Given the description of an element on the screen output the (x, y) to click on. 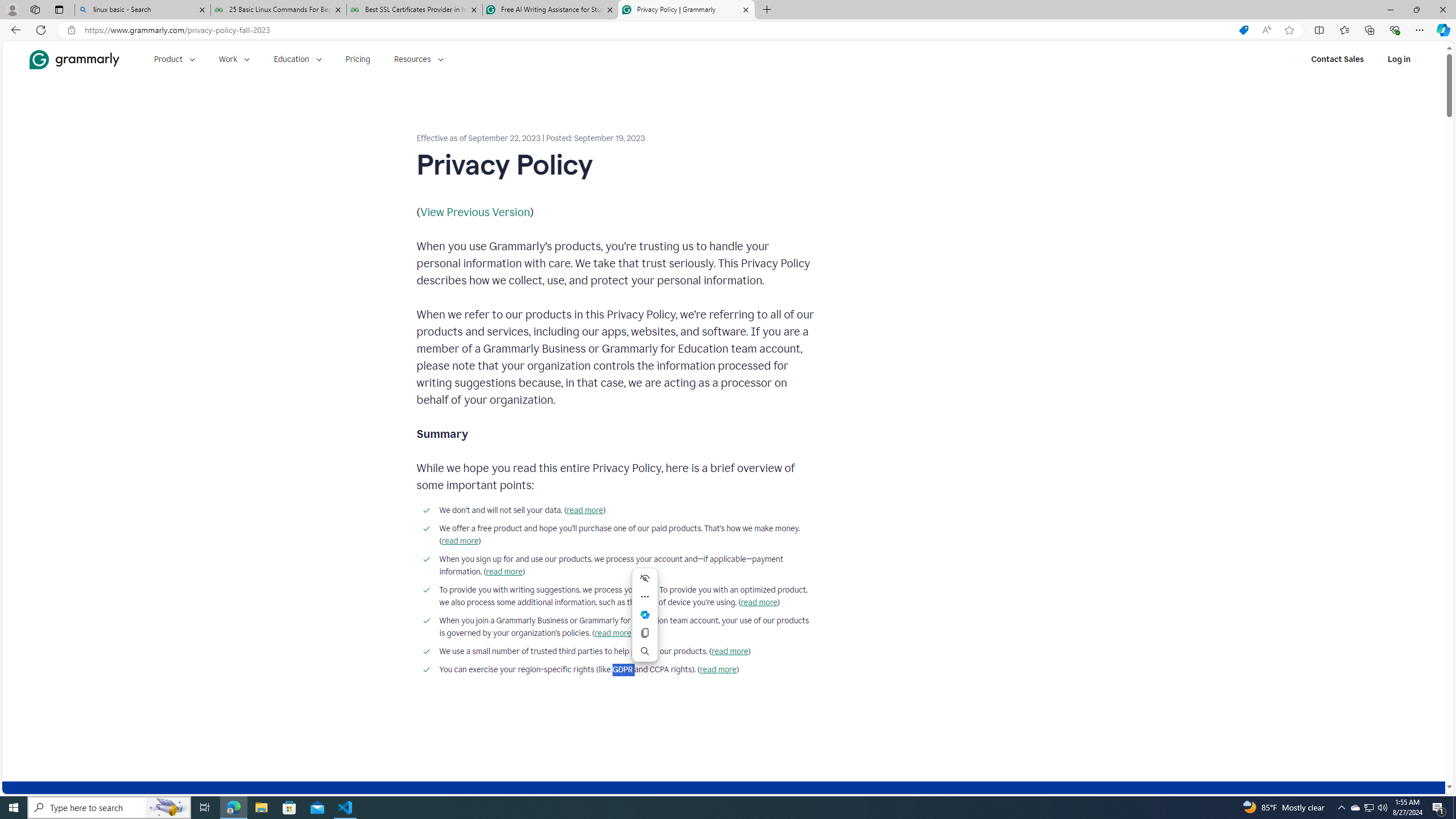
Resources (419, 58)
Copy (644, 633)
Mini menu on text selection (644, 621)
Work (234, 58)
read more (717, 669)
Free AI Writing Assistance for Students | Grammarly (550, 9)
Work (234, 58)
Education (297, 58)
